Given the description of an element on the screen output the (x, y) to click on. 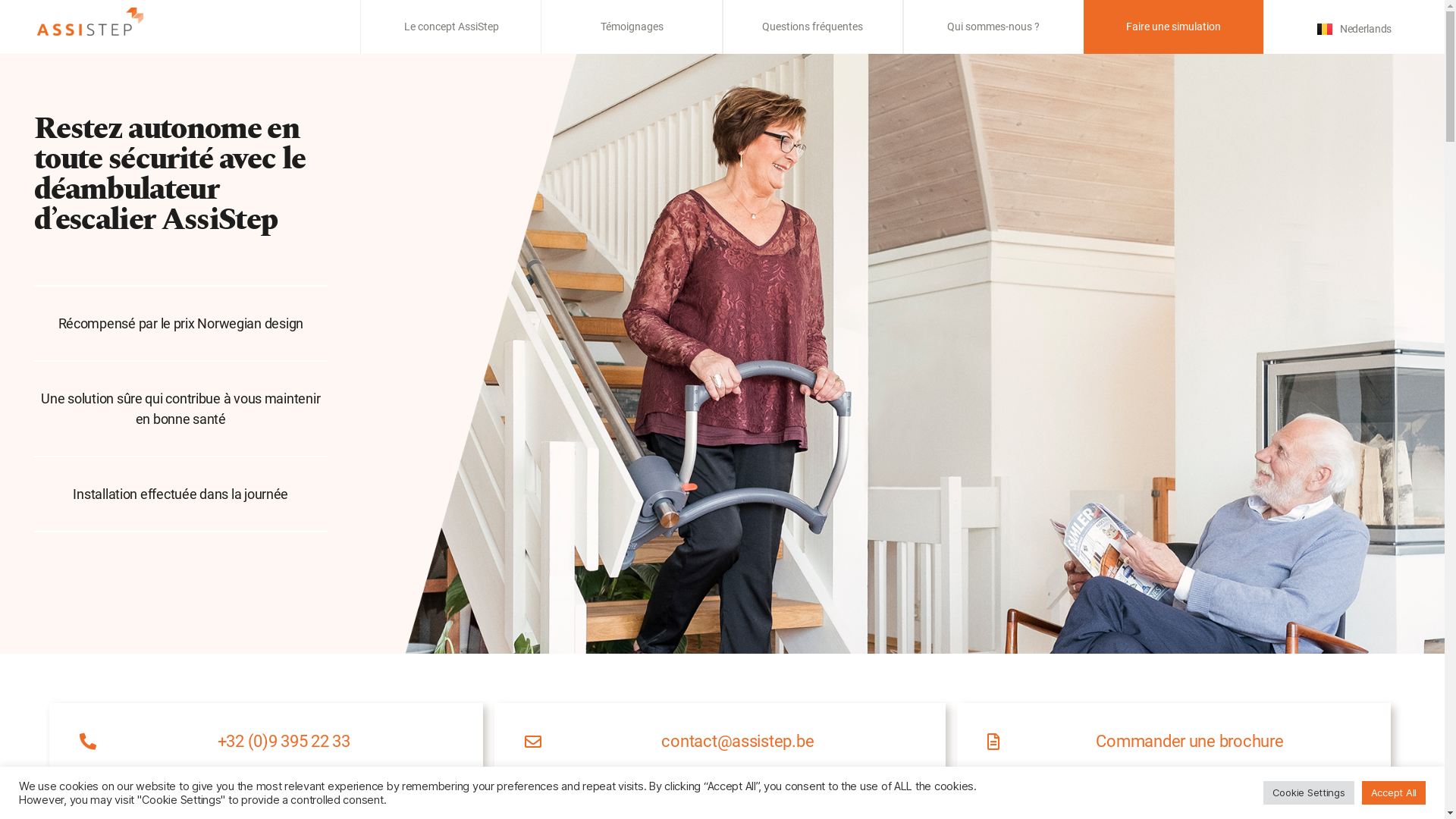
Nederlands Element type: text (1354, 28)
Faire une simulation Element type: text (1173, 26)
Le concept AssiStep Element type: text (451, 26)
contact@assistep.be Element type: text (720, 741)
+32 (0)9 395 22 33 Element type: text (266, 741)
Accept All Element type: text (1393, 792)
Qui sommes-nous ? Element type: text (993, 26)
AssiStep MAIN logo Element type: hover (90, 21)
Cookie Settings Element type: text (1308, 792)
Commander une brochure Element type: text (1173, 741)
